Given the description of an element on the screen output the (x, y) to click on. 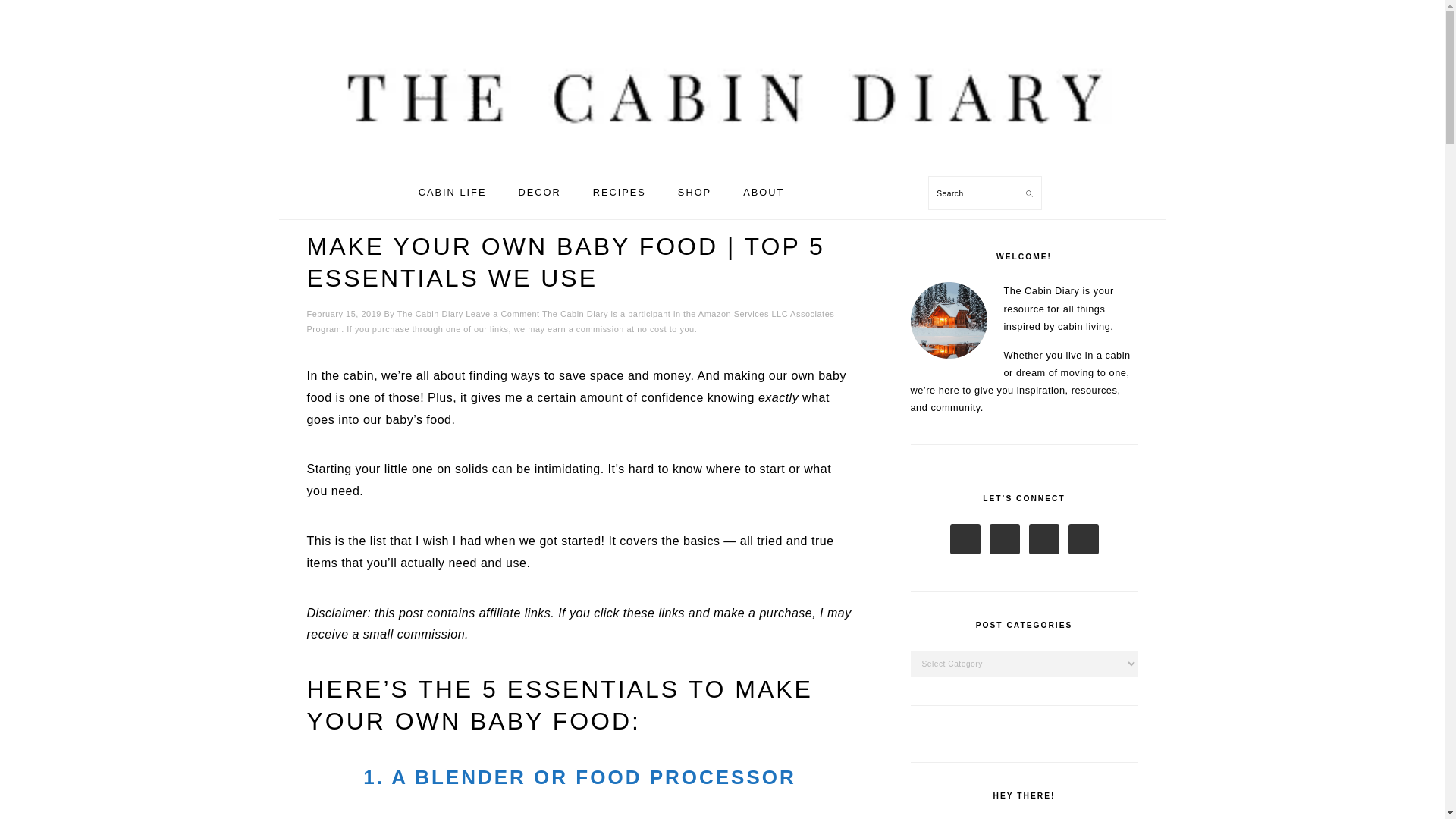
DECOR (539, 191)
The Cabin Diary (430, 313)
1. A BLENDER OR FOOD PROCESSOR (579, 776)
The Cabin Diary (722, 146)
RECIPES (619, 191)
The Cabin Diary (722, 72)
SHOP (694, 191)
Leave a Comment (501, 313)
ABOUT (762, 191)
CABIN LIFE (452, 191)
